Given the description of an element on the screen output the (x, y) to click on. 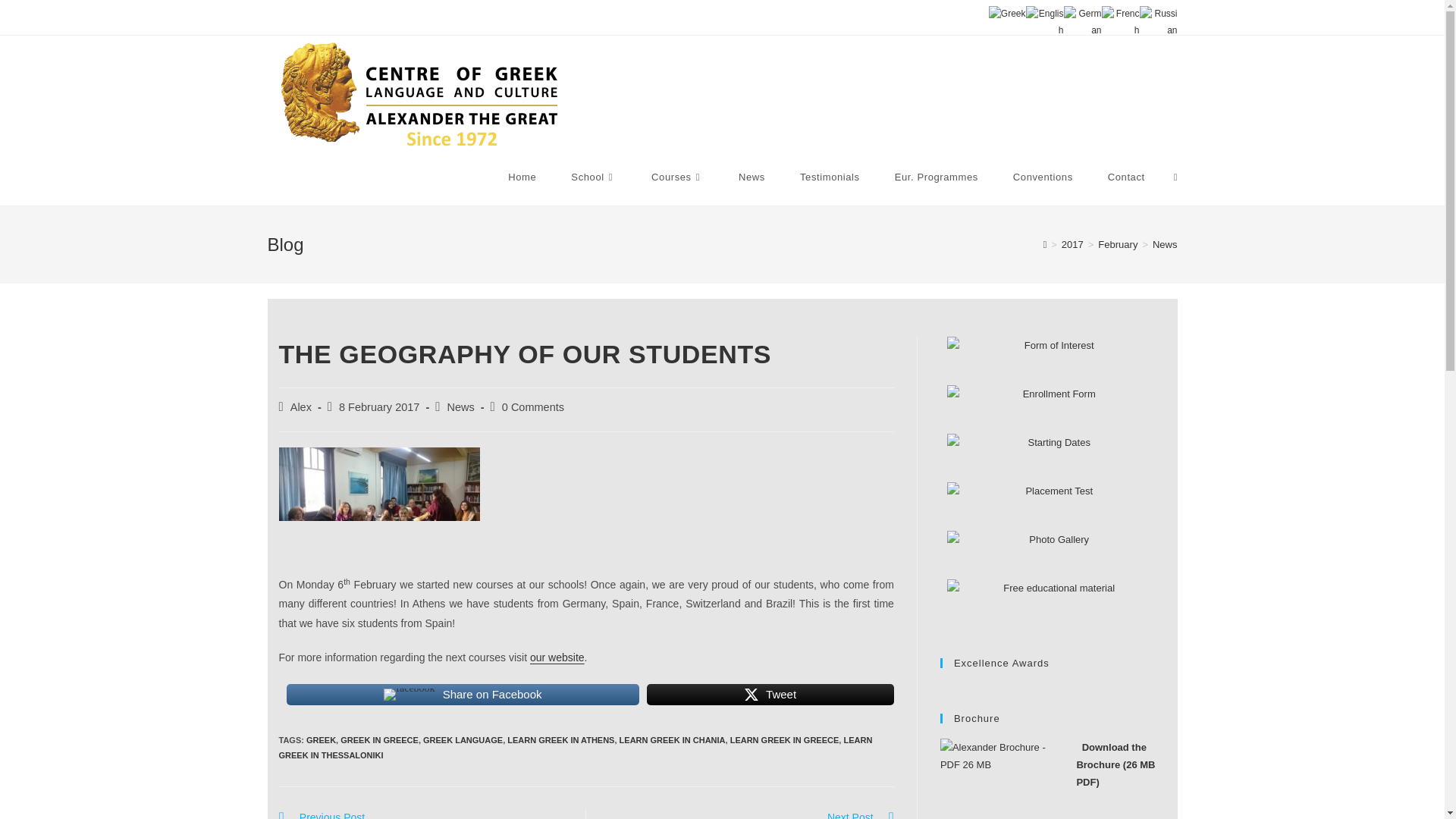
Free educational material (1052, 603)
Form of Interest (1052, 360)
Courses (676, 177)
Conventions (1042, 177)
Home (521, 177)
Starting Dates (1052, 458)
Eur. Programmes (936, 177)
School (593, 177)
Photo Gallery (1052, 554)
Form of Interest (1052, 409)
Posts by Alex (300, 407)
Placement Test (1052, 506)
Testimonials (830, 177)
Alexander Brochure - PDF 26 MB (1000, 778)
News (751, 177)
